Given the description of an element on the screen output the (x, y) to click on. 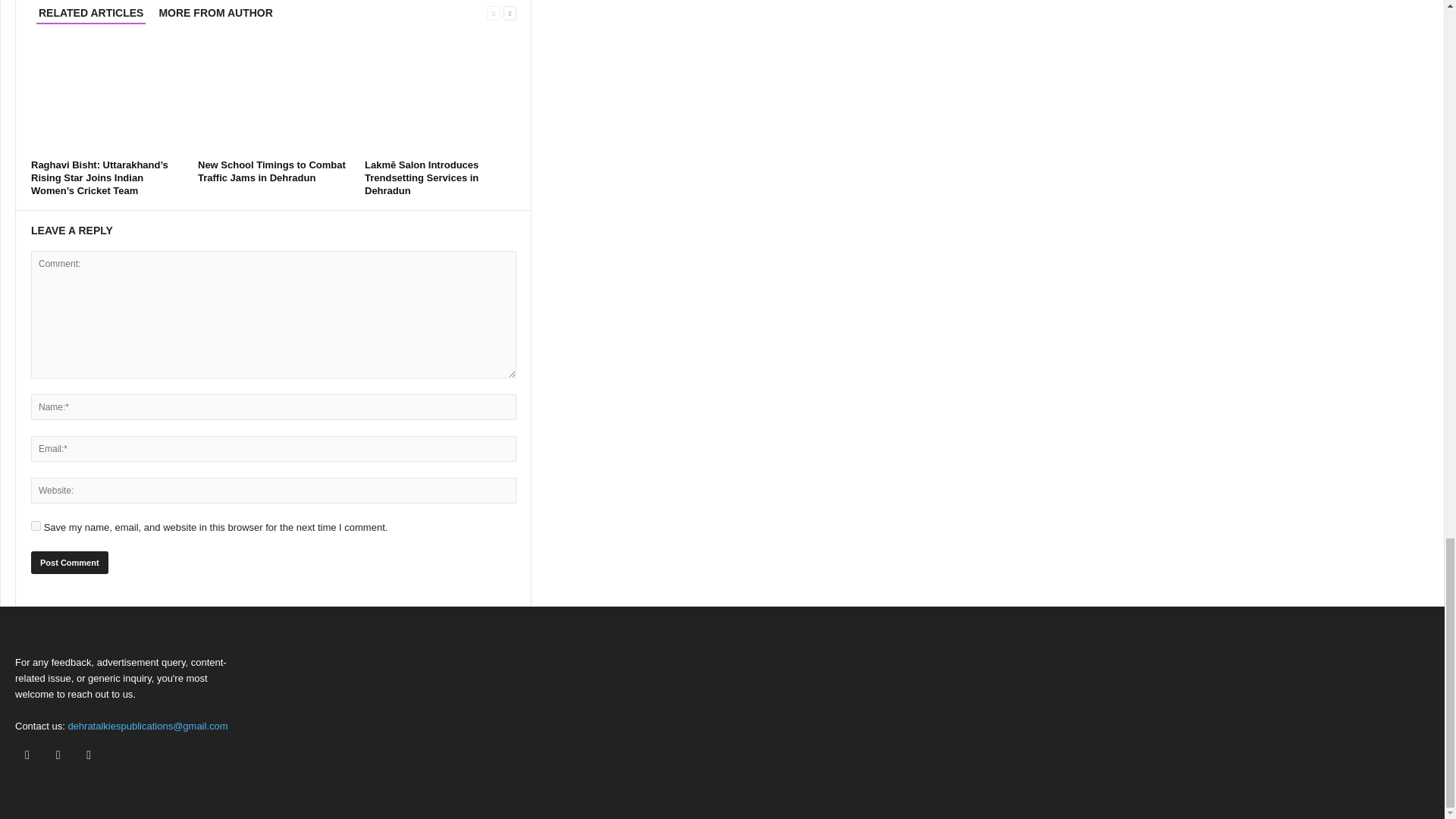
New School Timings to Combat Traffic Jams in Dehradun (273, 96)
New School Timings to Combat Traffic Jams in Dehradun (272, 170)
yes (35, 525)
Post Comment (68, 562)
